Given the description of an element on the screen output the (x, y) to click on. 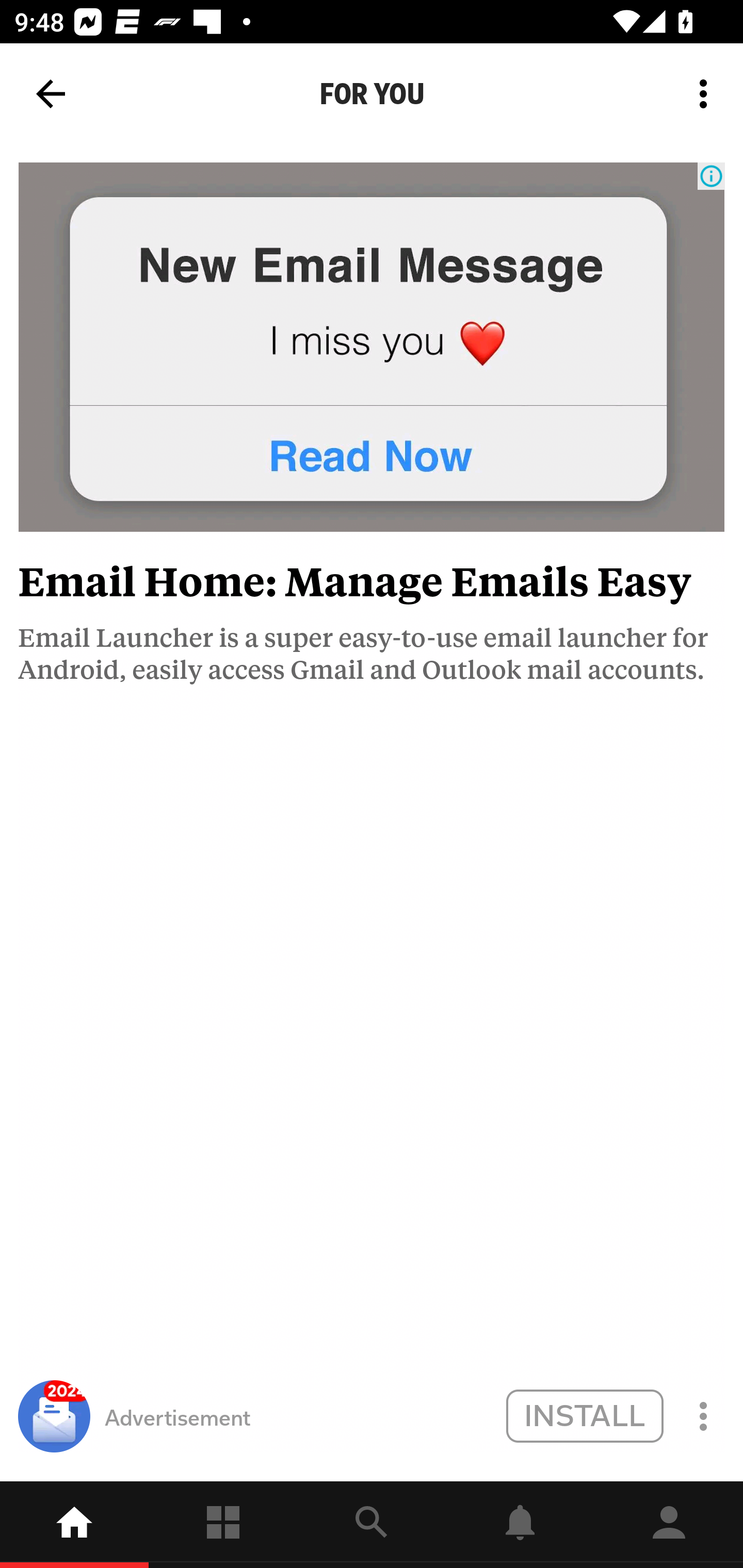
Back (50, 93)
FOR YOU (371, 93)
More options (706, 93)
Ad Choices Icon (711, 176)
INSTALL (584, 1415)
home (74, 1524)
Following (222, 1524)
explore (371, 1524)
Notifications (519, 1524)
Profile (668, 1524)
